Given the description of an element on the screen output the (x, y) to click on. 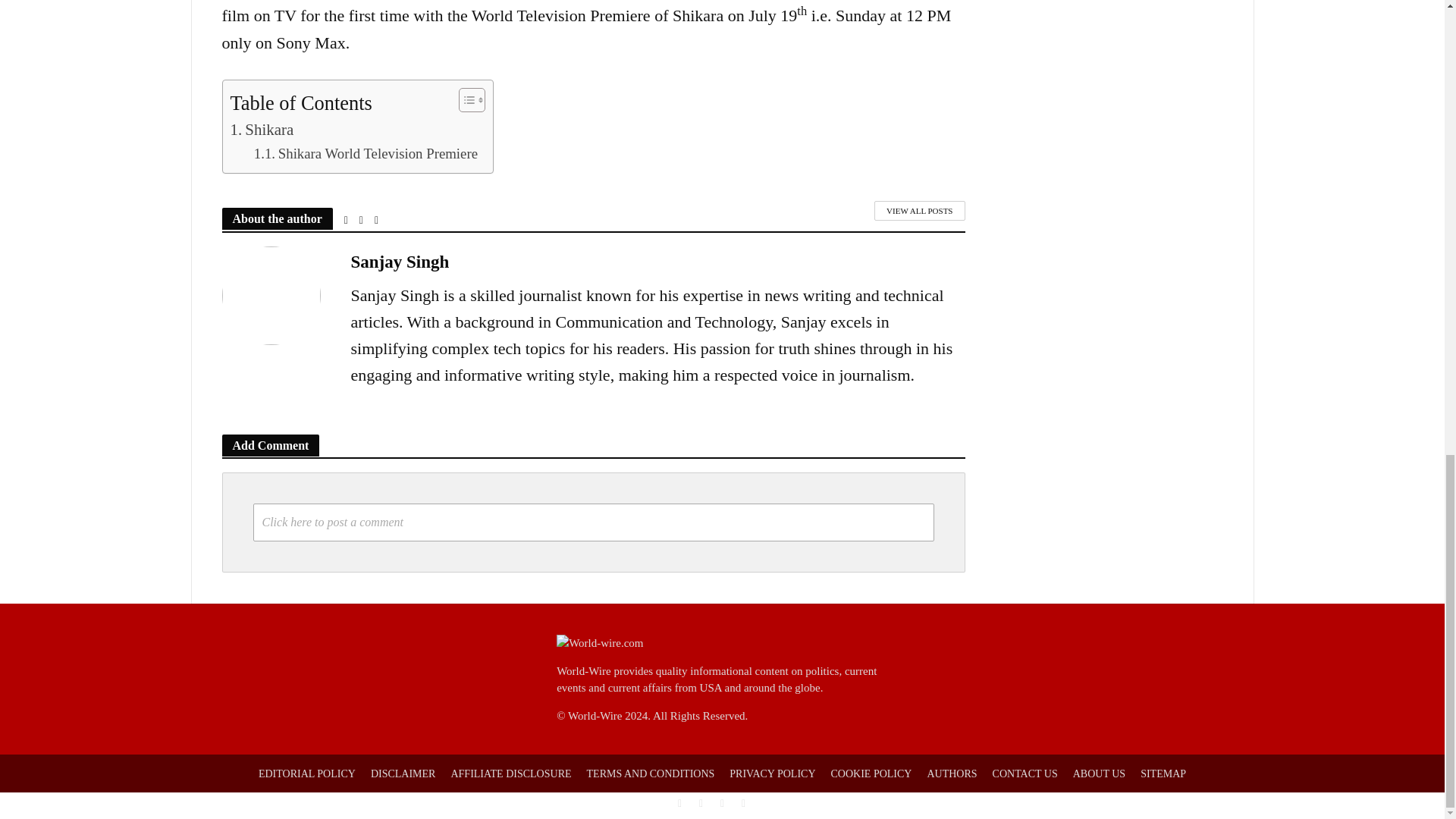
Shikara World Television Premiere (365, 153)
Shikara (262, 129)
